Given the description of an element on the screen output the (x, y) to click on. 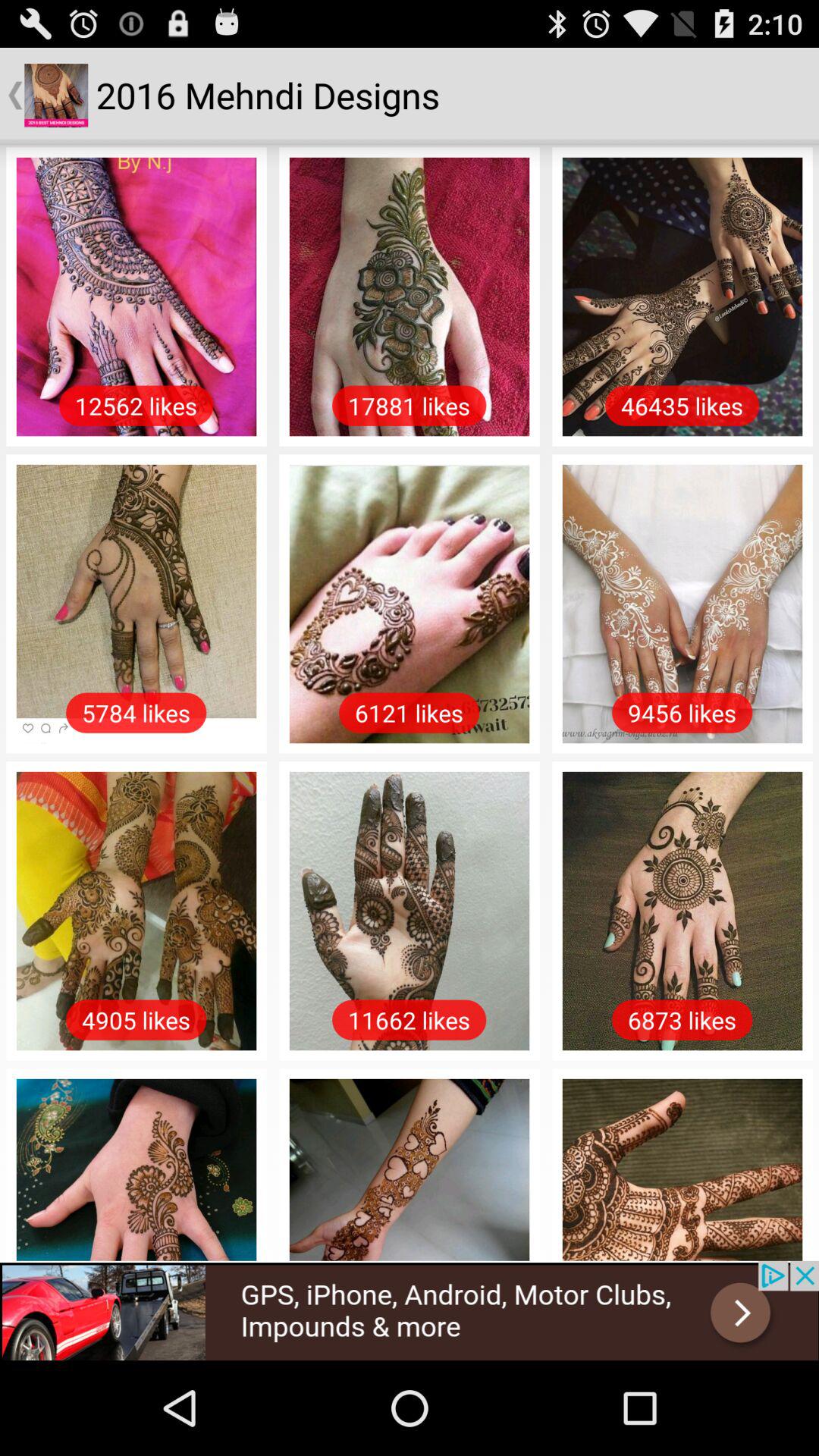
share the article (409, 1310)
